Given the description of an element on the screen output the (x, y) to click on. 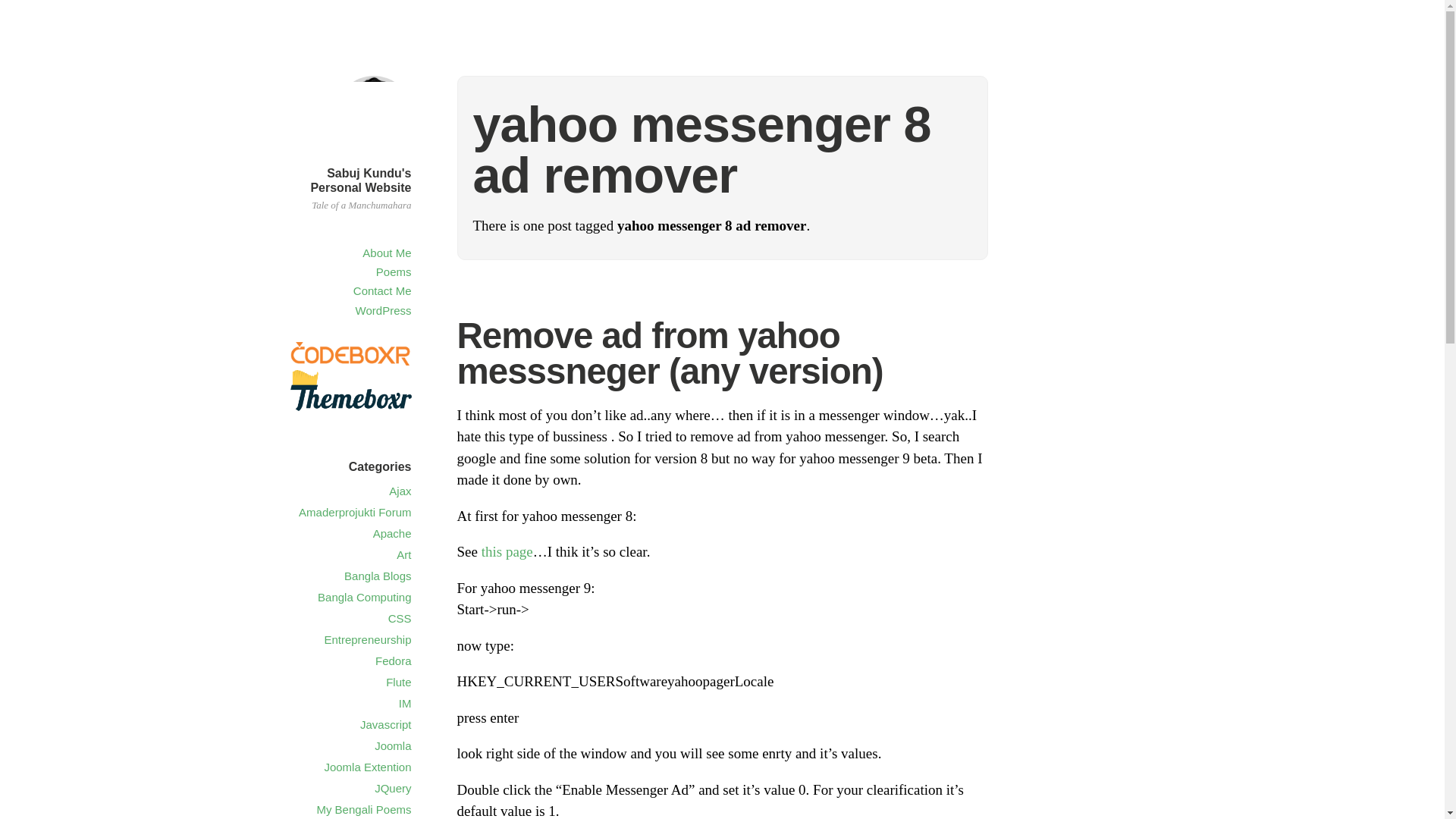
Bangla Computing (363, 596)
WordPress (383, 309)
Sabuj Kundu's Personal Website (360, 180)
this page (506, 551)
Amaderprojukti Forum (354, 512)
Sabuj Kundu's Personal Website (372, 154)
IM (405, 703)
Flute (397, 681)
Bangla Blogs (376, 575)
Sabuj Kundu's Personal Website (360, 180)
JQuery (392, 788)
Art (403, 554)
Apache (392, 533)
Contact Me (382, 290)
Fedora (393, 660)
